Given the description of an element on the screen output the (x, y) to click on. 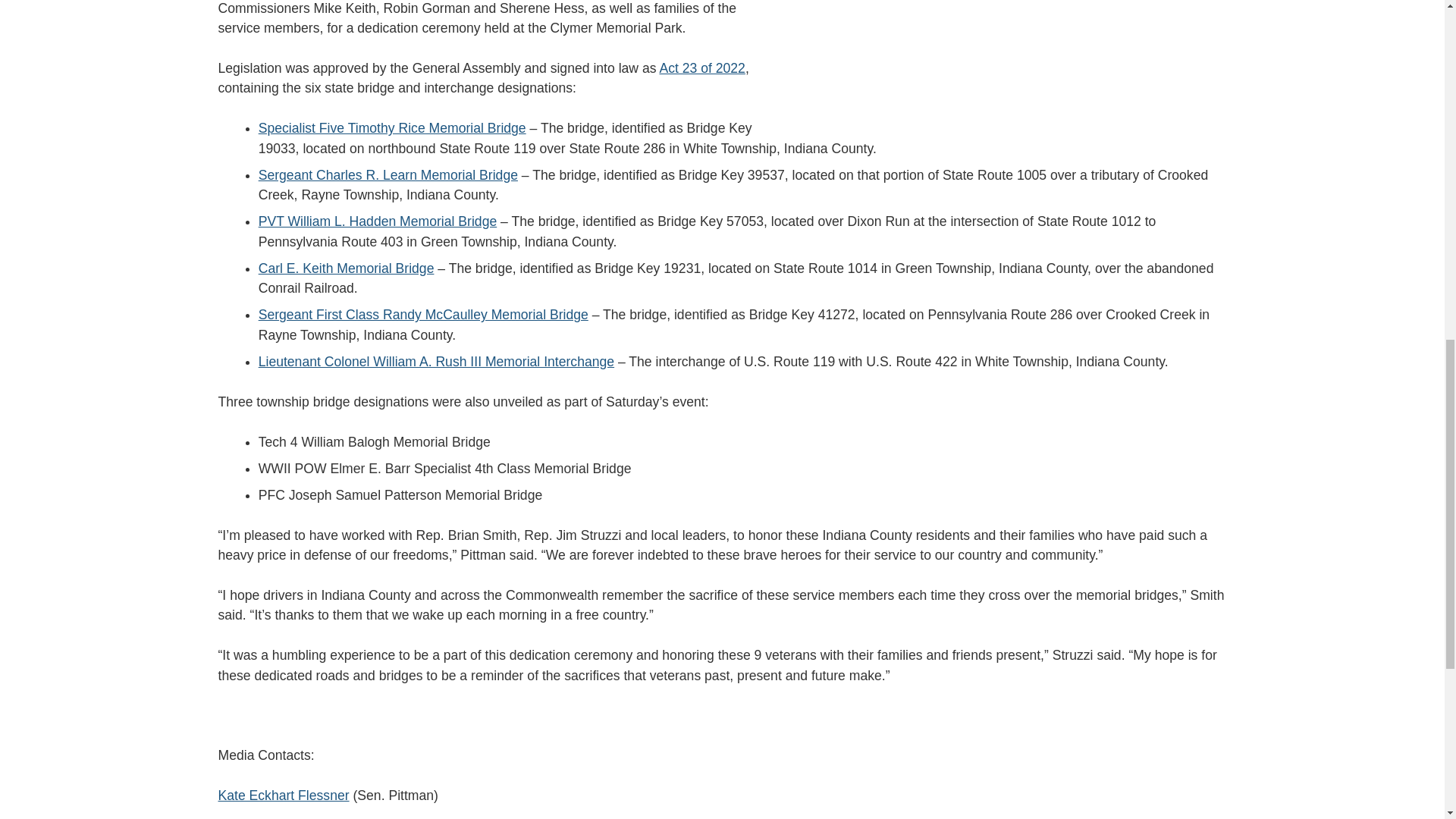
PVT William L. Hadden Memorial Bridge (378, 221)
Act 23 of 2022 (701, 68)
Specialist Five Timothy Rice Memorial Bridge (392, 127)
Carl E. Keith Memorial Bridge (346, 268)
Lieutenant Colonel William A. Rush III Memorial Interchange (436, 361)
Sergeant Charles R. Learn Memorial Bridge (388, 174)
Sergeant First Class Randy McCaulley Memorial Bridge (423, 314)
